Given the description of an element on the screen output the (x, y) to click on. 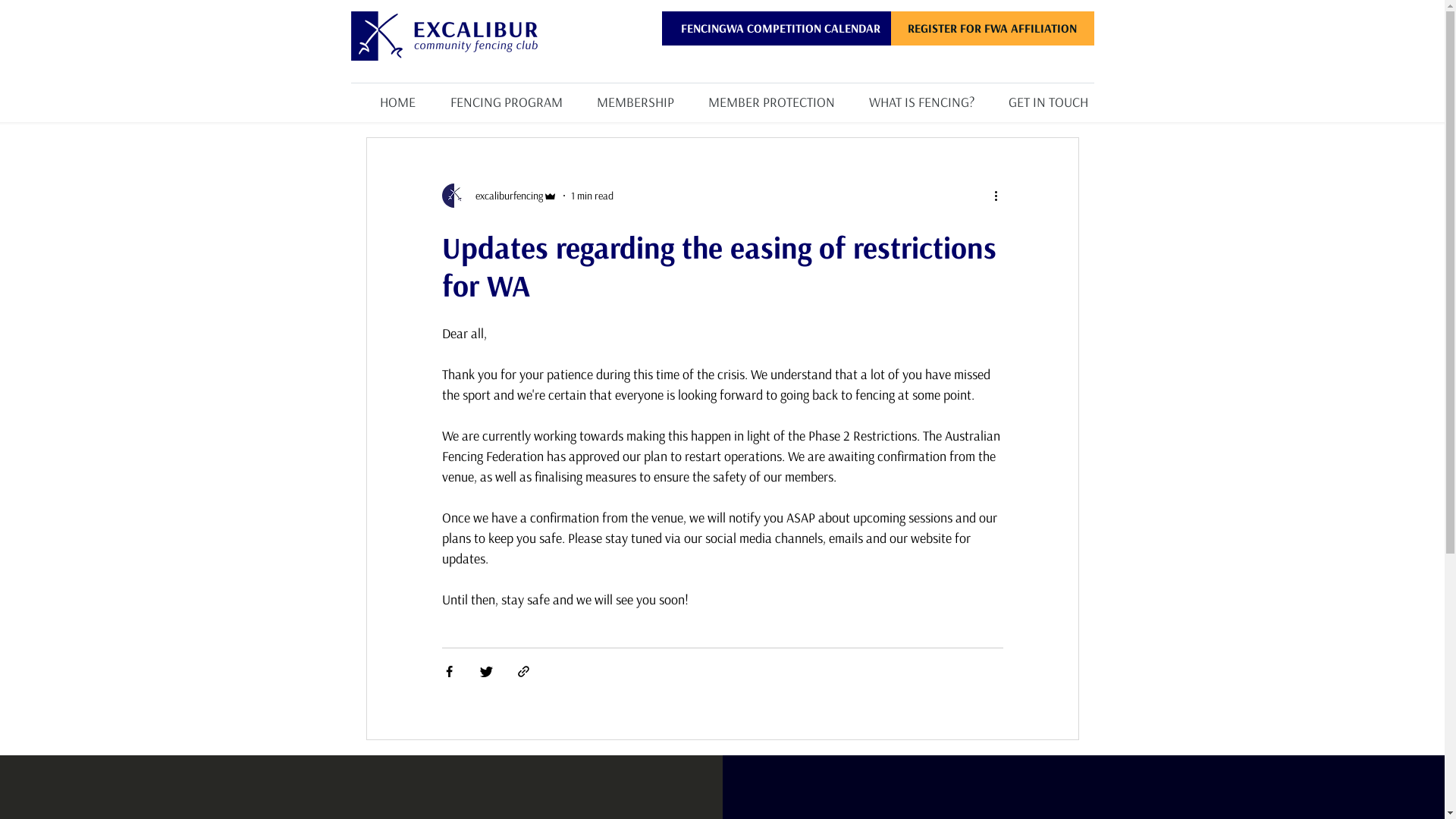
HOME Element type: text (385, 94)
REGISTER FOR FWA AFFILIATION Element type: text (991, 28)
FENCINGWA COMPETITION CALENDAR Element type: text (780, 28)
WHAT IS FENCING? Element type: text (909, 94)
FENCING PROGRAM Element type: text (494, 94)
GET IN TOUCH Element type: text (1036, 94)
MEMBERSHIP Element type: text (624, 94)
MEMBER PROTECTION Element type: text (759, 94)
